Given the description of an element on the screen output the (x, y) to click on. 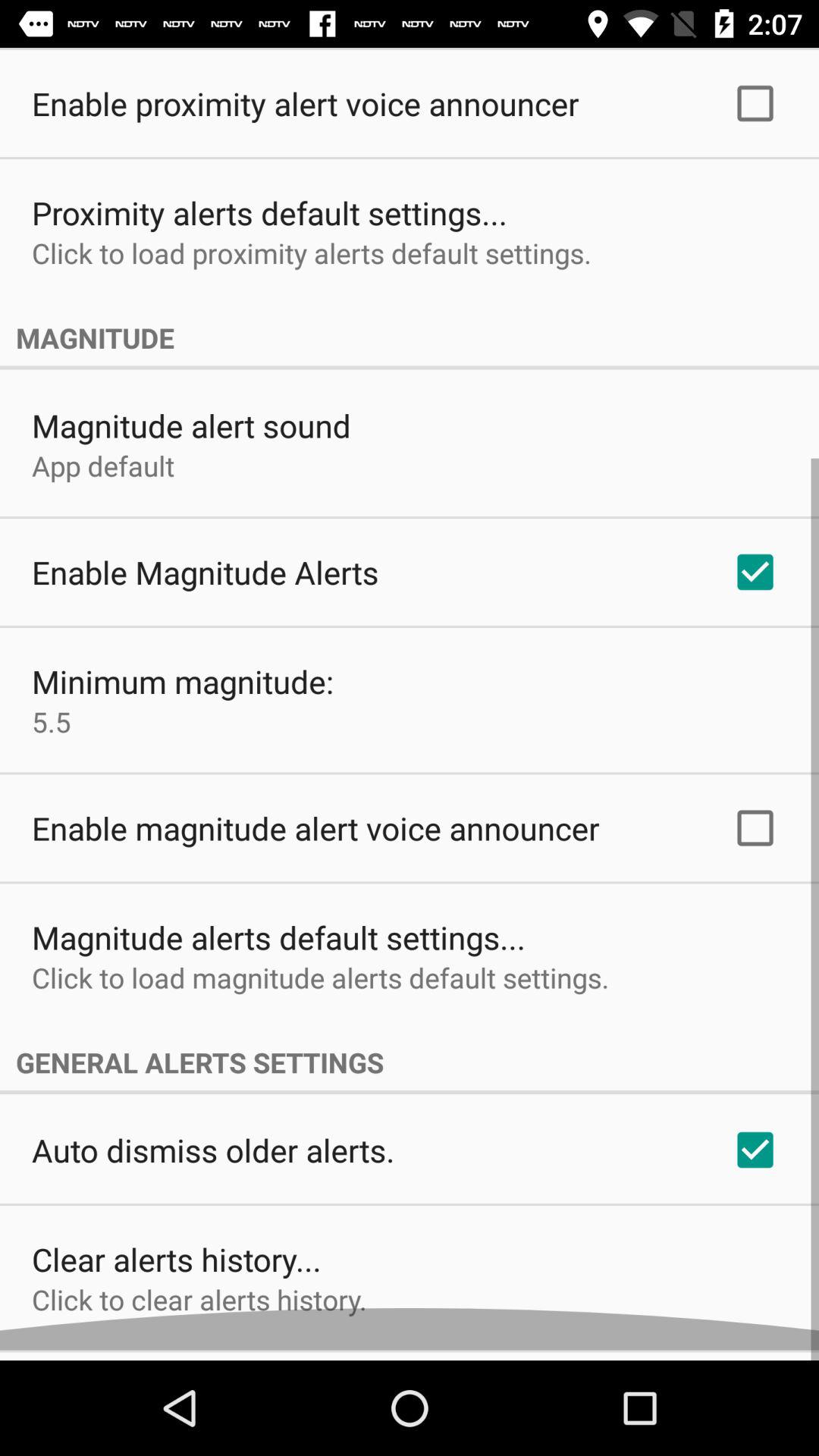
flip to auto dismiss older item (212, 1159)
